Given the description of an element on the screen output the (x, y) to click on. 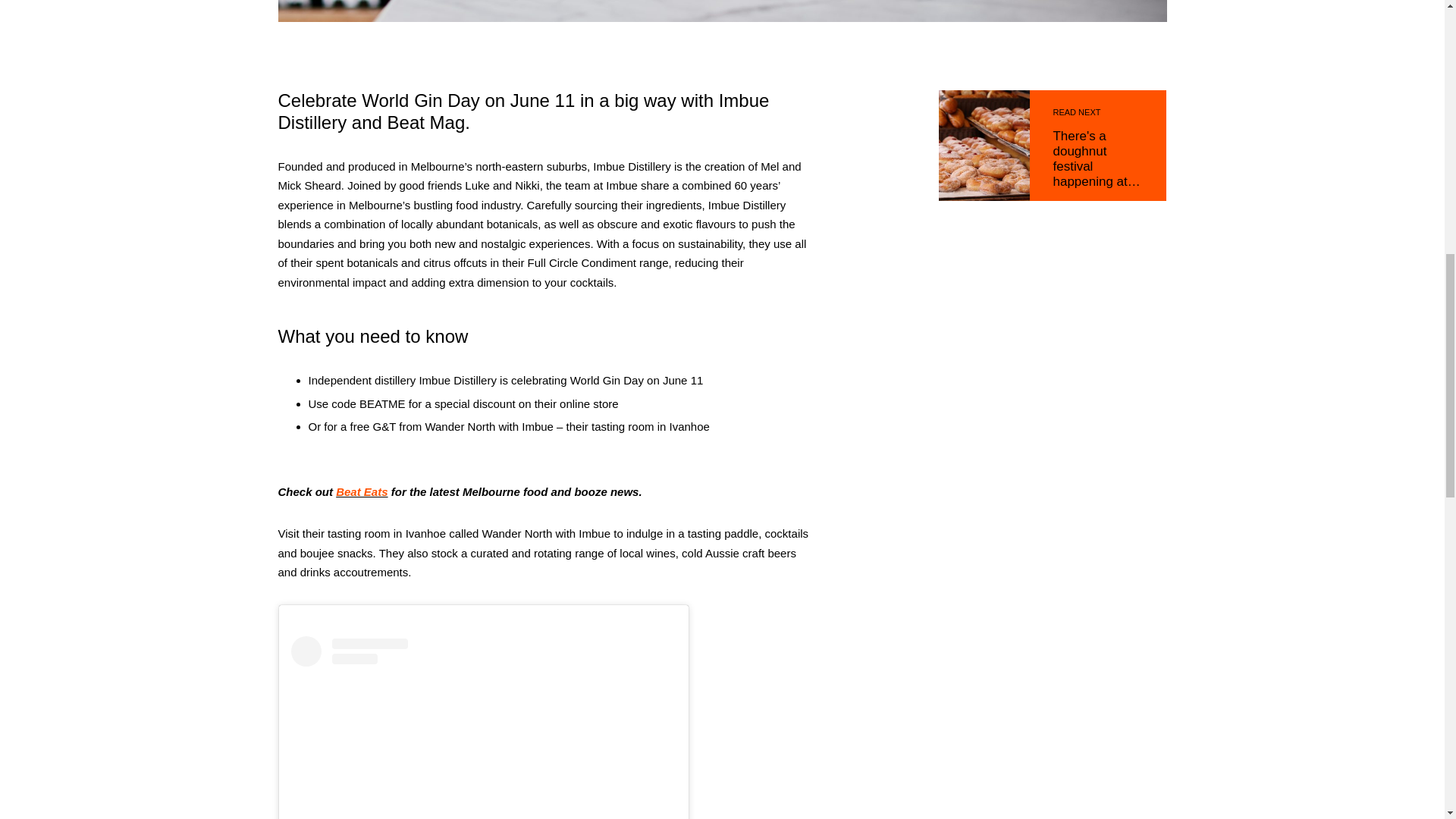
Beat Eats (361, 491)
